Given the description of an element on the screen output the (x, y) to click on. 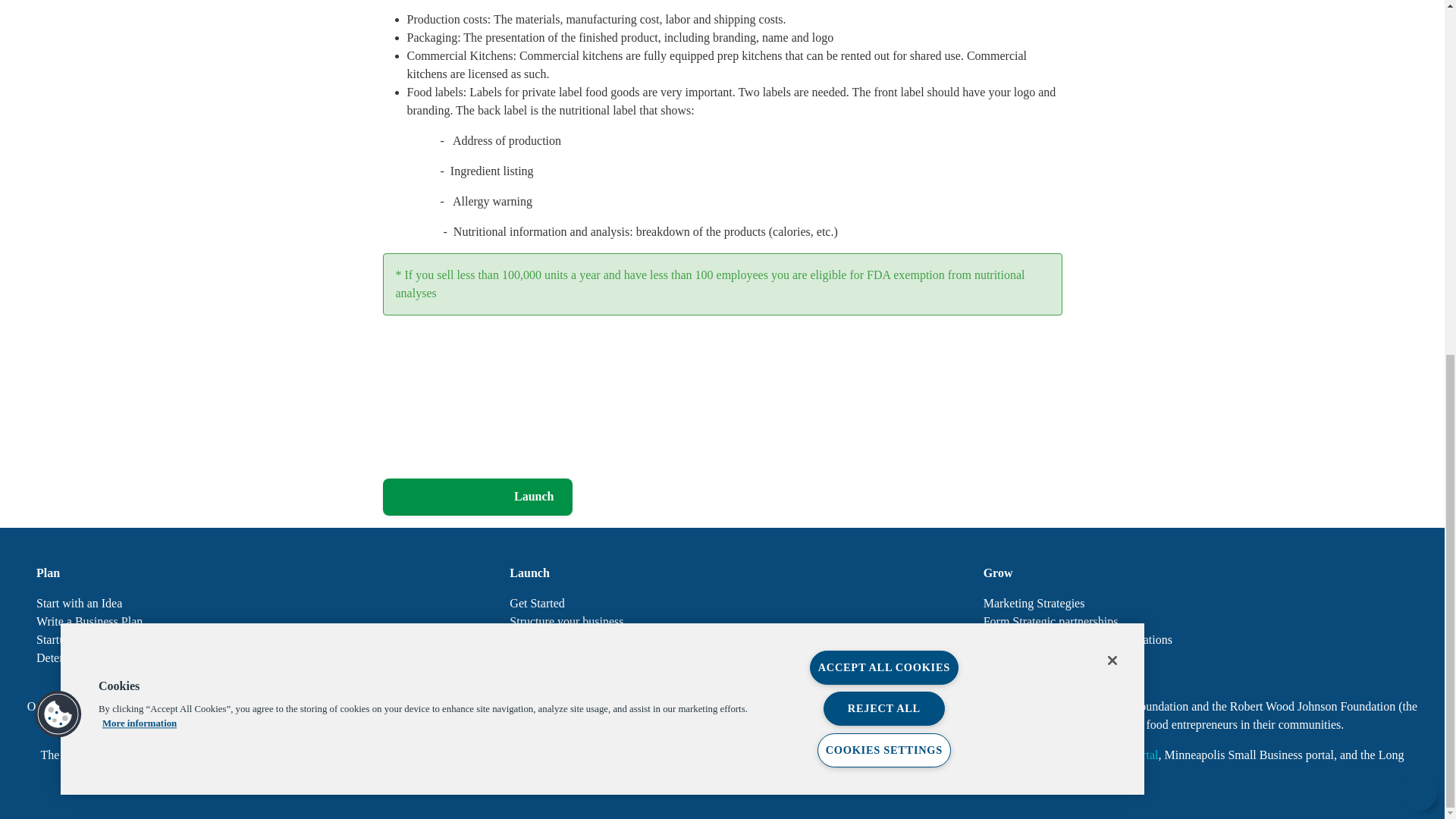
Operations (721, 639)
Write a Business Plan (248, 621)
COOKIES SETTINGS (883, 129)
REJECT ALL (884, 87)
ACCEPT ALL COOKIES (883, 46)
Determine the Food Business Type (248, 658)
Cookies Button (57, 92)
Form Strategic partnerships (1195, 621)
Structure your business (721, 621)
Code for America (503, 754)
Cookies Button (57, 92)
Long Beach i-team (616, 754)
More information (138, 102)
Startup Finances (248, 639)
Permits and Licenses (721, 658)
